Given the description of an element on the screen output the (x, y) to click on. 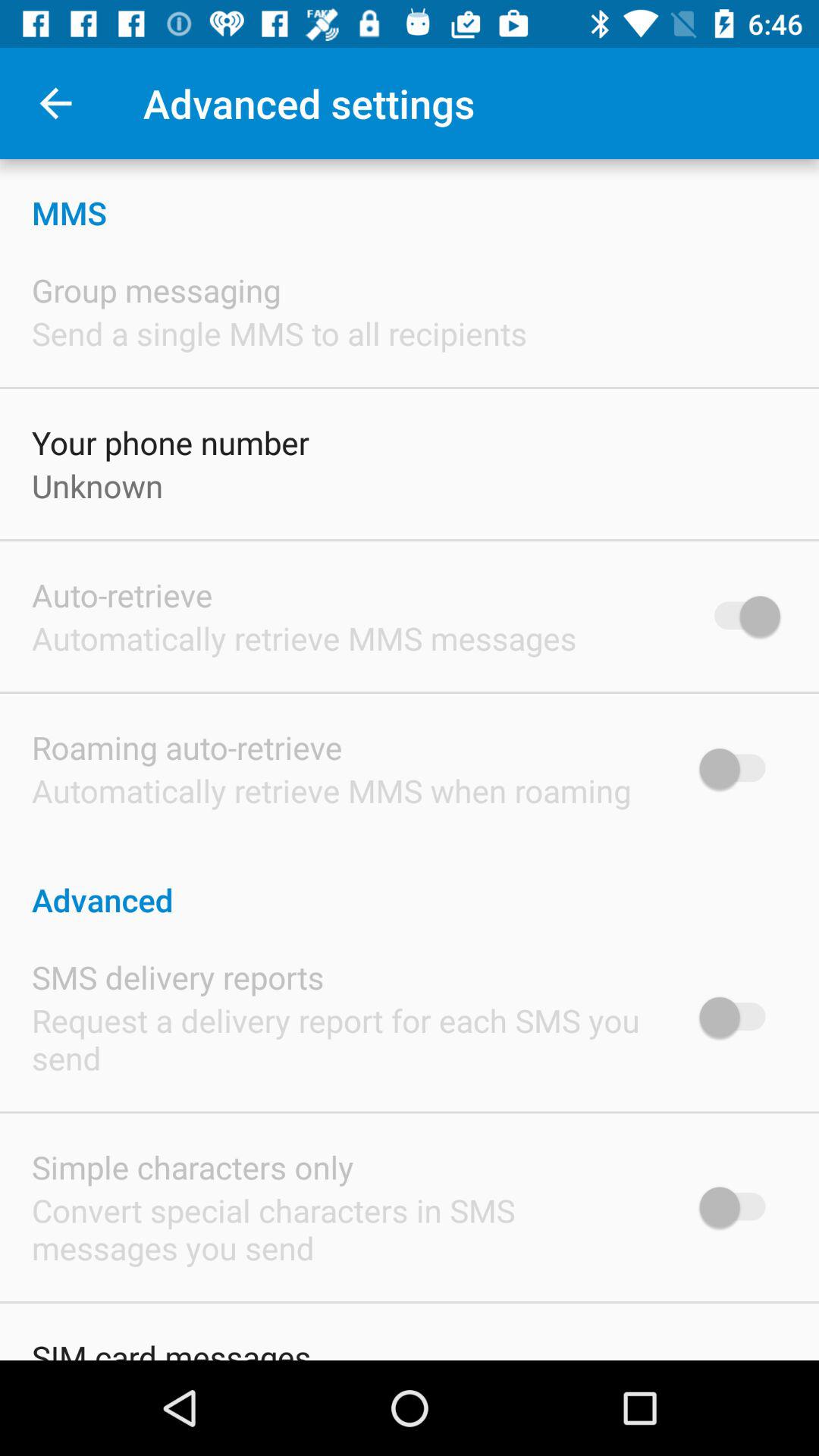
turn on item next to the advanced settings icon (55, 103)
